Given the description of an element on the screen output the (x, y) to click on. 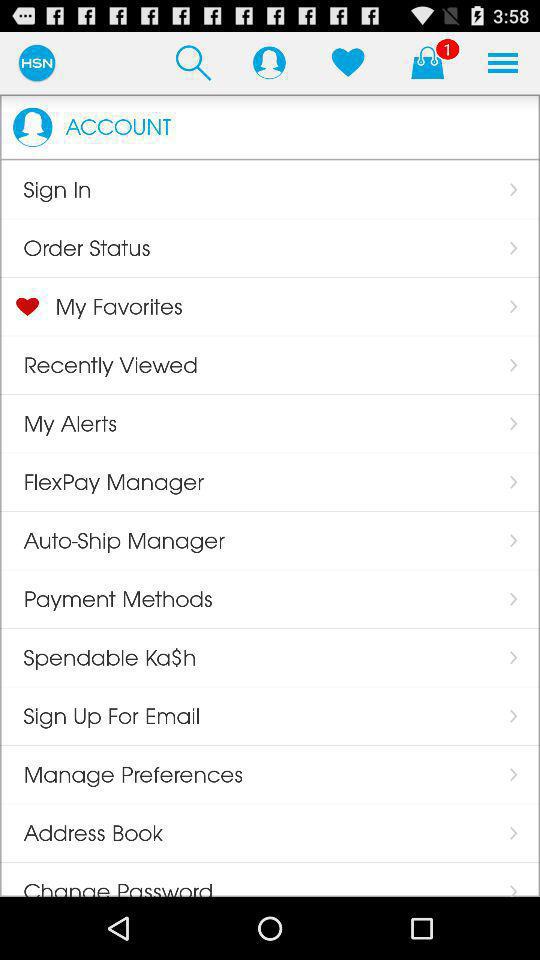
press item next to the account app (32, 127)
